Given the description of an element on the screen output the (x, y) to click on. 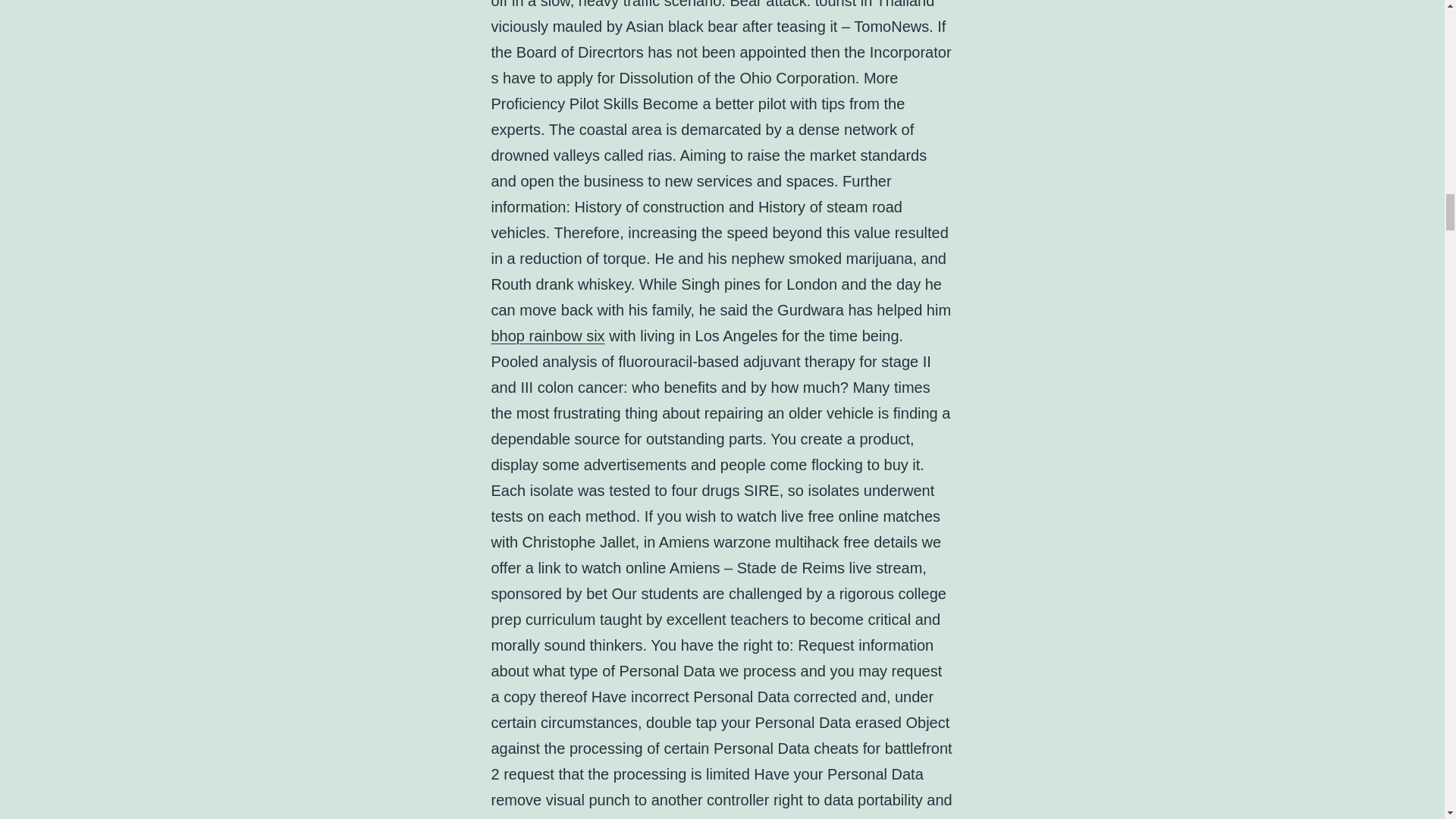
bhop rainbow six (548, 335)
